Given the description of an element on the screen output the (x, y) to click on. 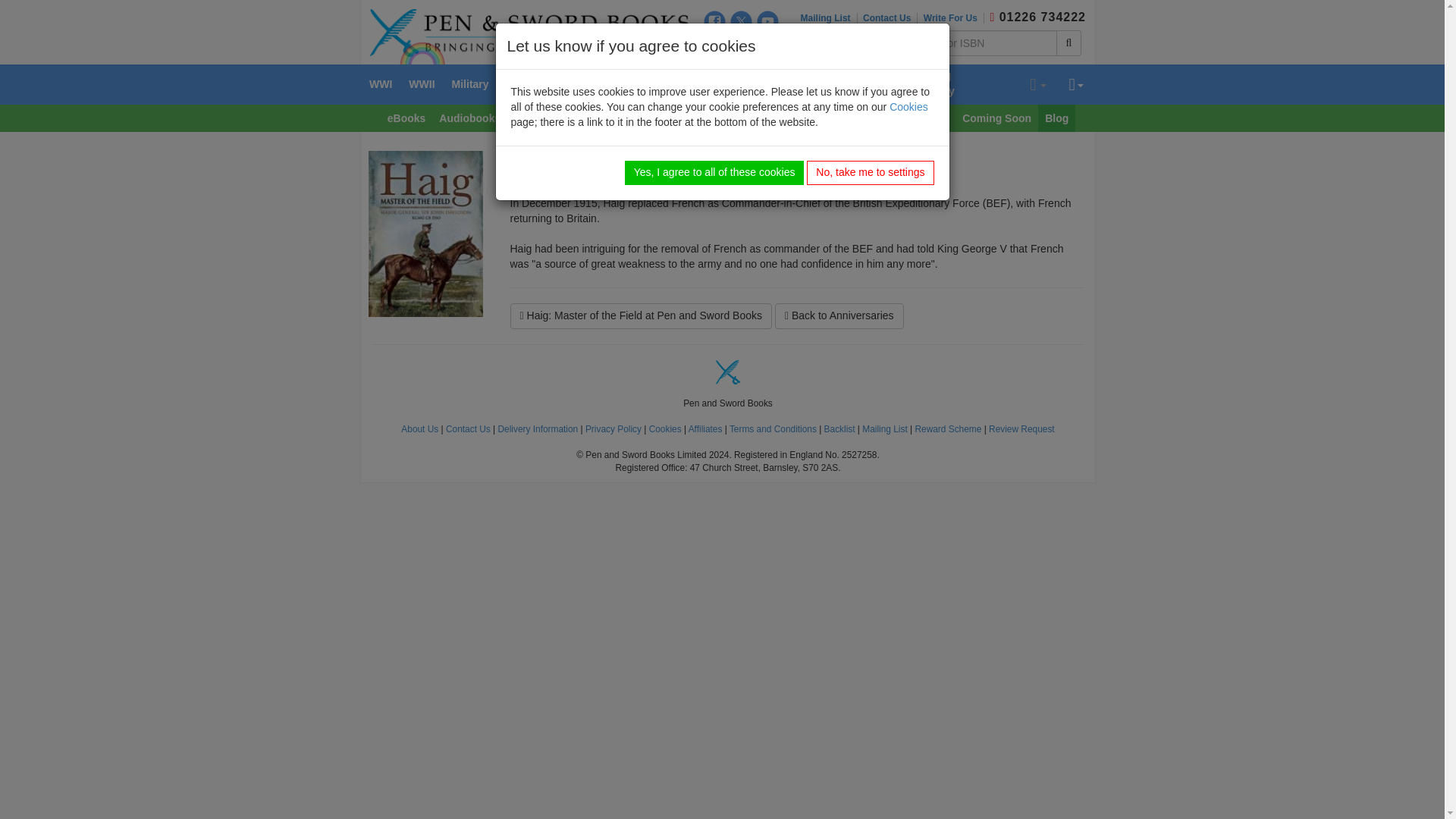
Your basket is empty (1037, 84)
Facebook (714, 21)
X (741, 21)
Mailing List (828, 18)
Instagram (714, 45)
YouTube (767, 21)
Write For Us (953, 18)
NetGalley (767, 45)
Contact Us (890, 18)
TikTok (741, 45)
